Given the description of an element on the screen output the (x, y) to click on. 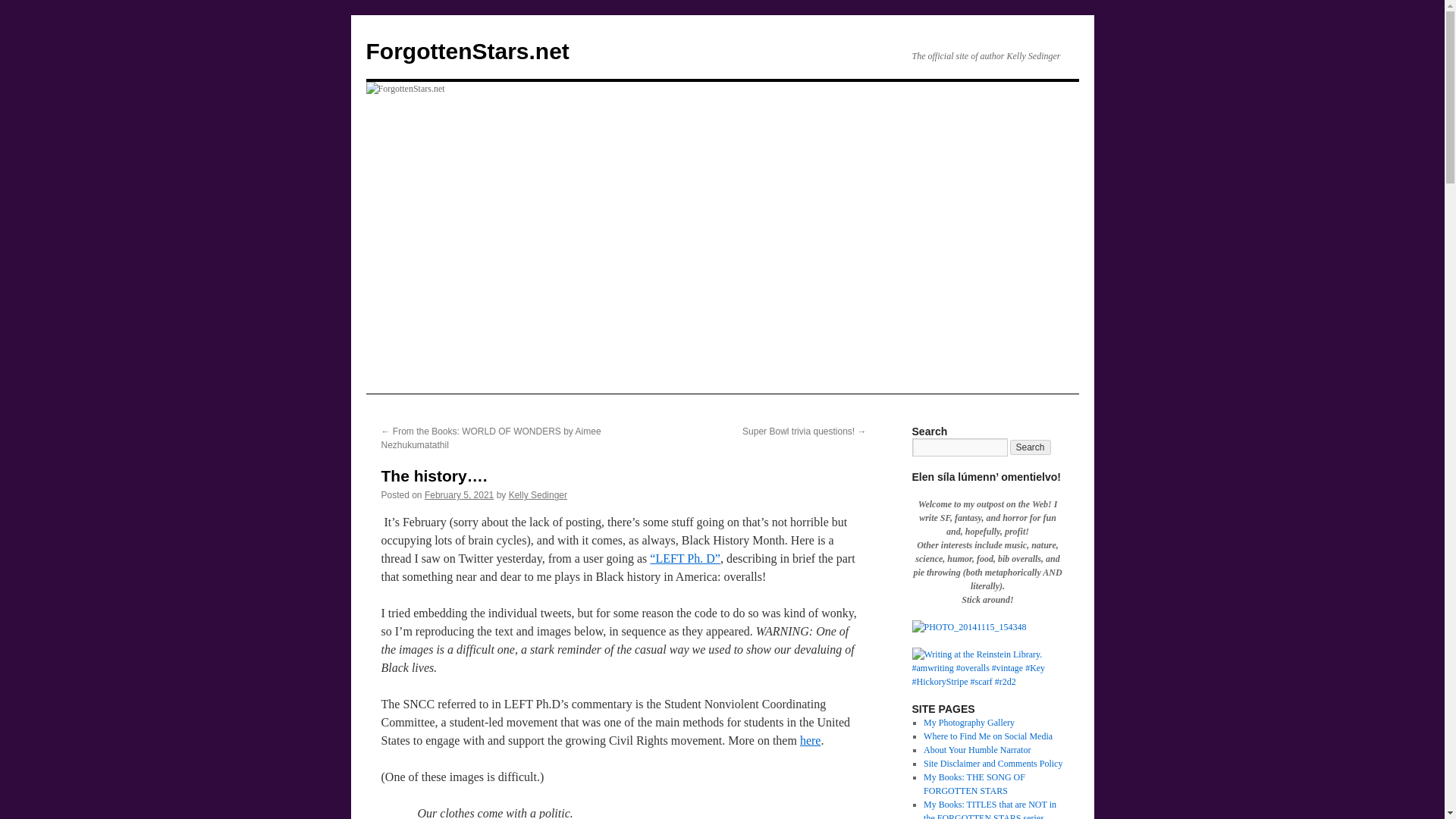
Search (1030, 447)
My Books: THE SONG OF FORGOTTEN STARS (974, 784)
February 5, 2021 (459, 494)
Site Disclaimer and Comments Policy (992, 763)
My Books: TITLES that are NOT in the FORGOTTEN STARS series (990, 809)
Where to Find Me on Social Media (987, 736)
here (810, 739)
About Your Humble Narrator (976, 749)
Search (1030, 447)
View all posts by Kelly Sedinger (537, 494)
12:57 am (459, 494)
My Photography Gallery (968, 722)
Kelly Sedinger (537, 494)
ForgottenStars.net (467, 50)
